Given the description of an element on the screen output the (x, y) to click on. 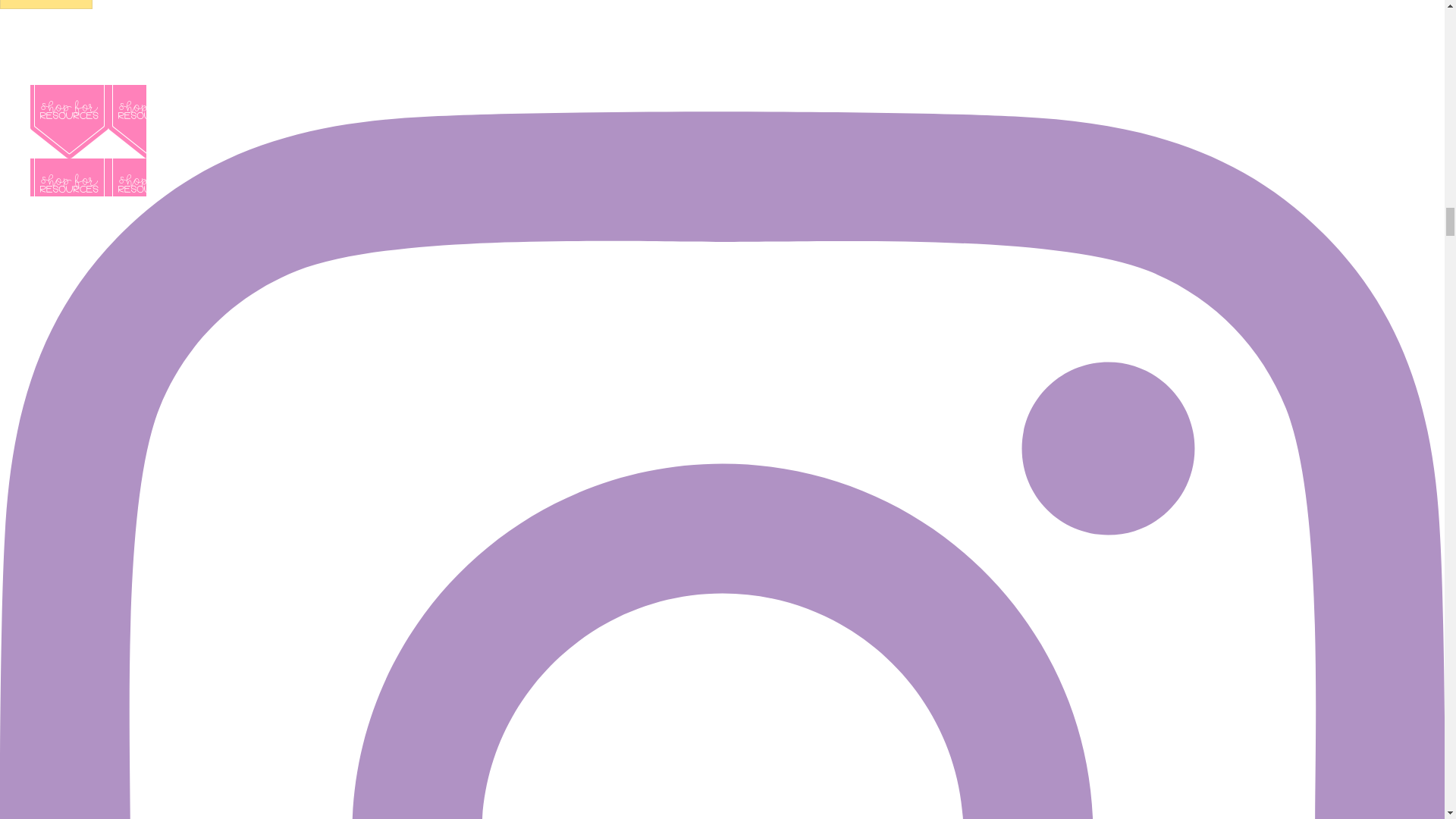
Search (46, 4)
Search (46, 4)
